Given the description of an element on the screen output the (x, y) to click on. 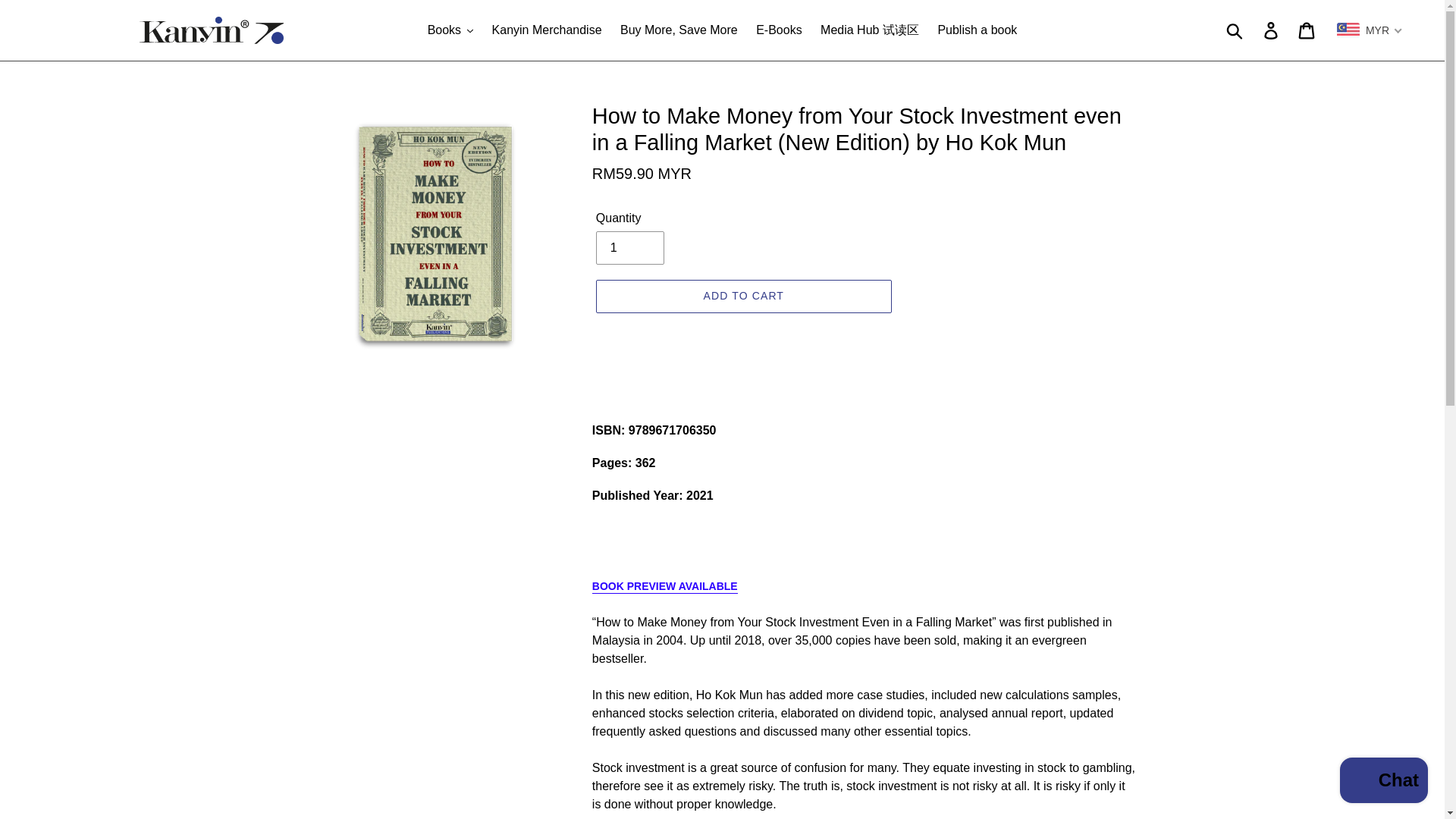
Shopify online store chat (1383, 781)
Kanyin Merchandise (547, 29)
Log in (1271, 29)
Publish a book (977, 29)
Submit (1235, 29)
E-Books (778, 29)
Buy More, Save More (678, 29)
1 (629, 247)
Cart (1307, 29)
